Given the description of an element on the screen output the (x, y) to click on. 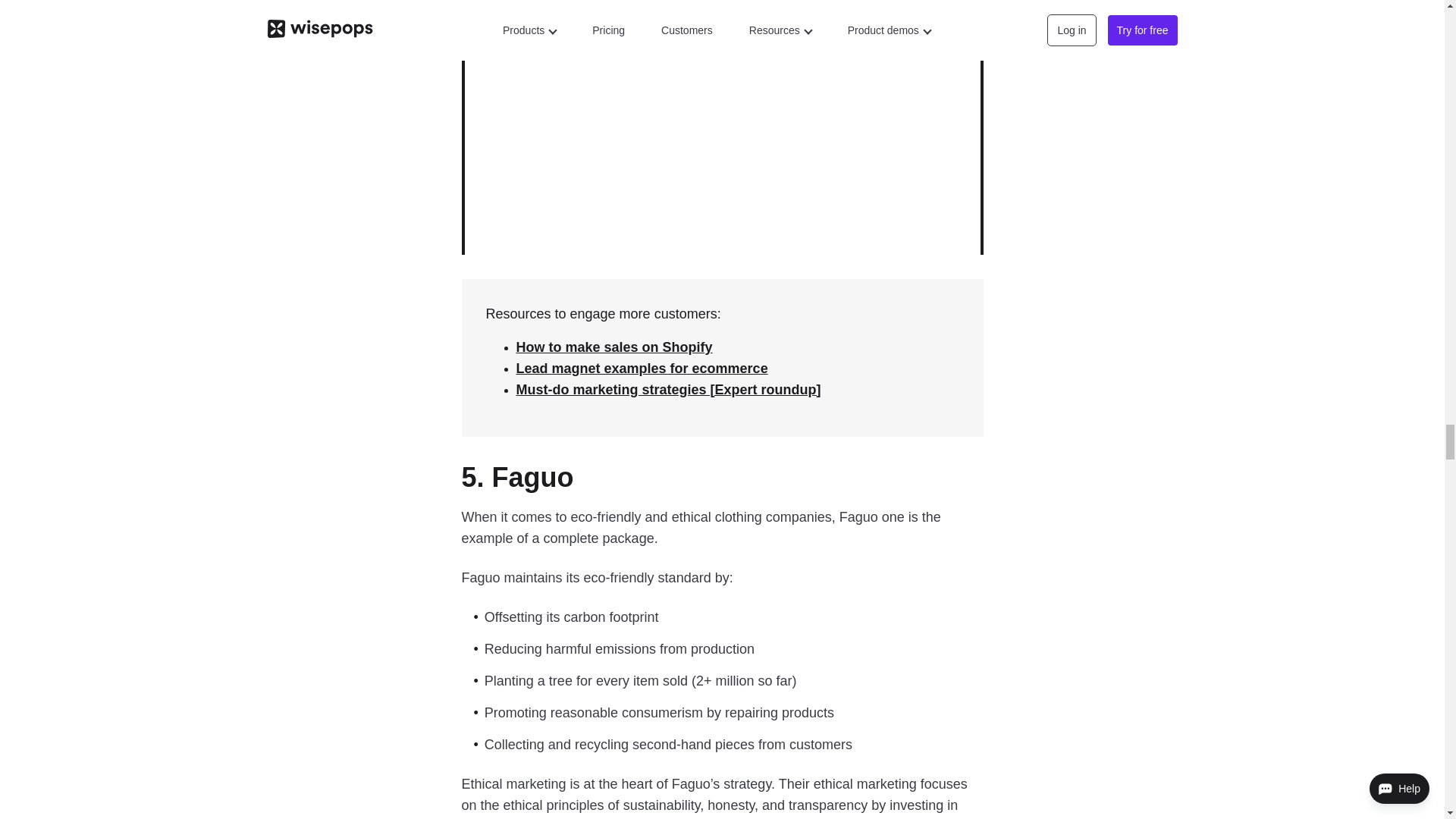
How to make sales on Shopify (613, 346)
